Given the description of an element on the screen output the (x, y) to click on. 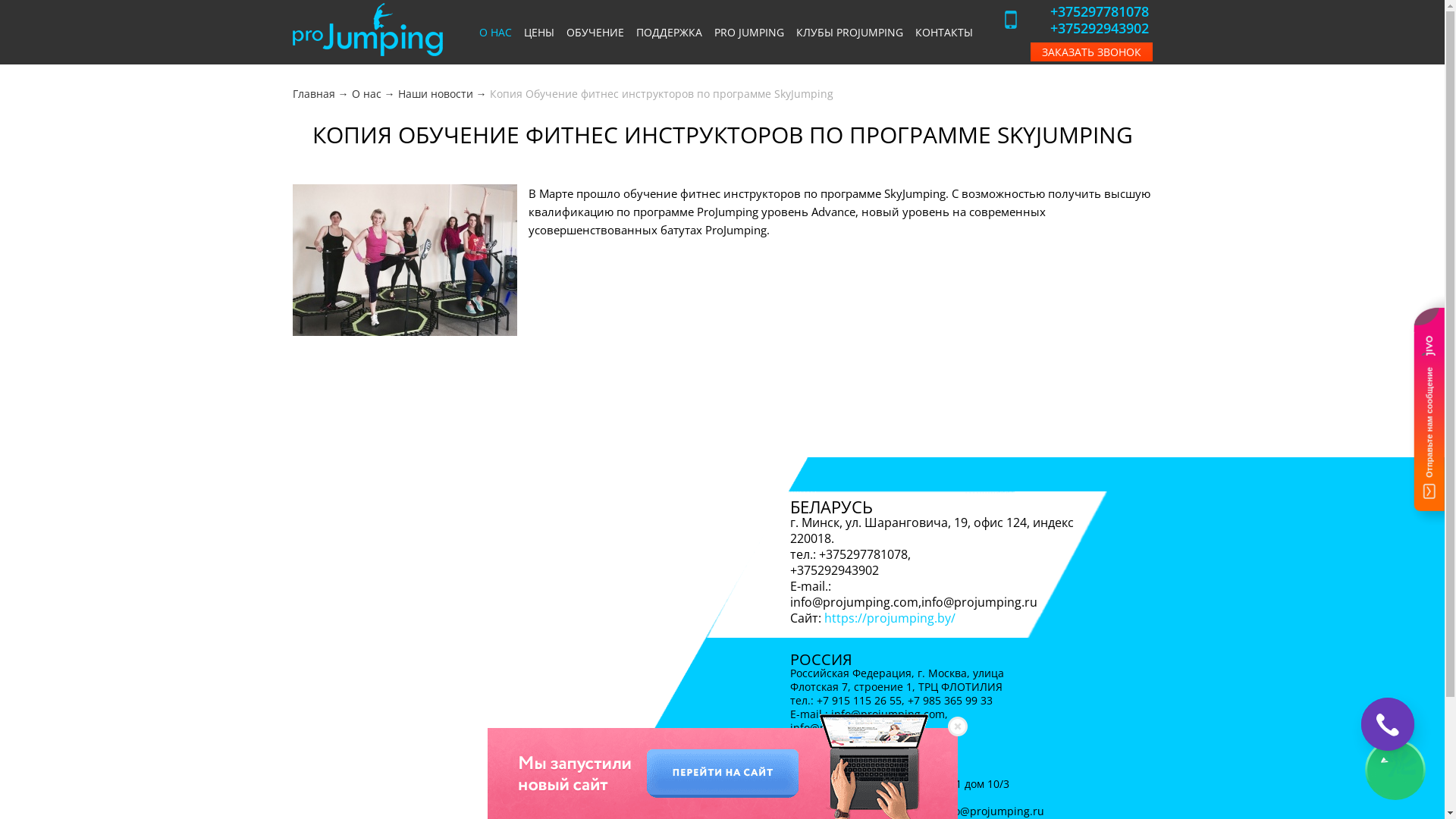
+375297781078 Element type: text (1098, 11)
https://projumping.ru/ Element type: text (878, 741)
https://projumping.by/ Element type: text (889, 617)
+375292943902 Element type: text (1098, 27)
PRO JUMPING Element type: text (749, 32)
